Given the description of an element on the screen output the (x, y) to click on. 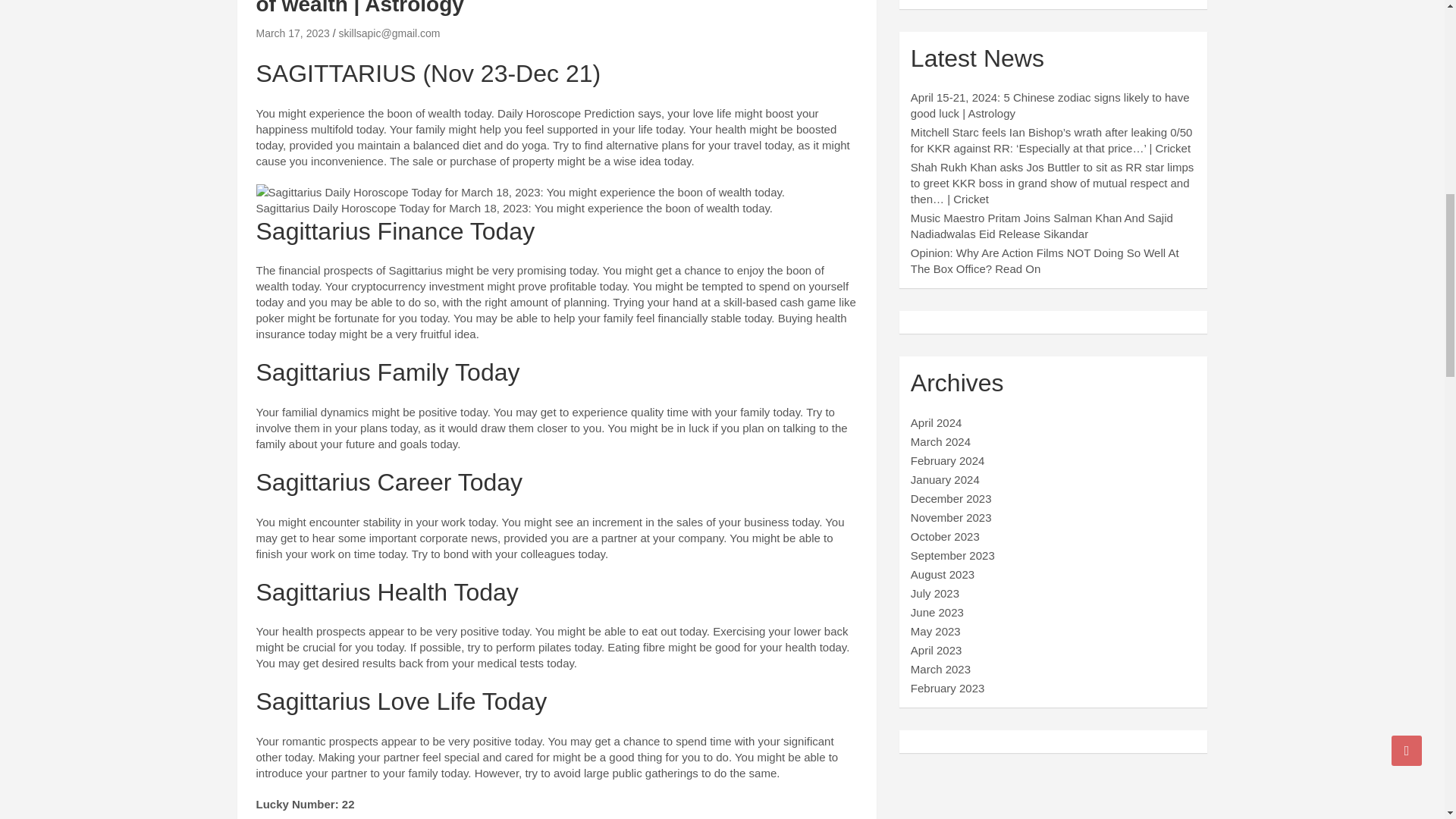
March 17, 2023 (293, 33)
